Given the description of an element on the screen output the (x, y) to click on. 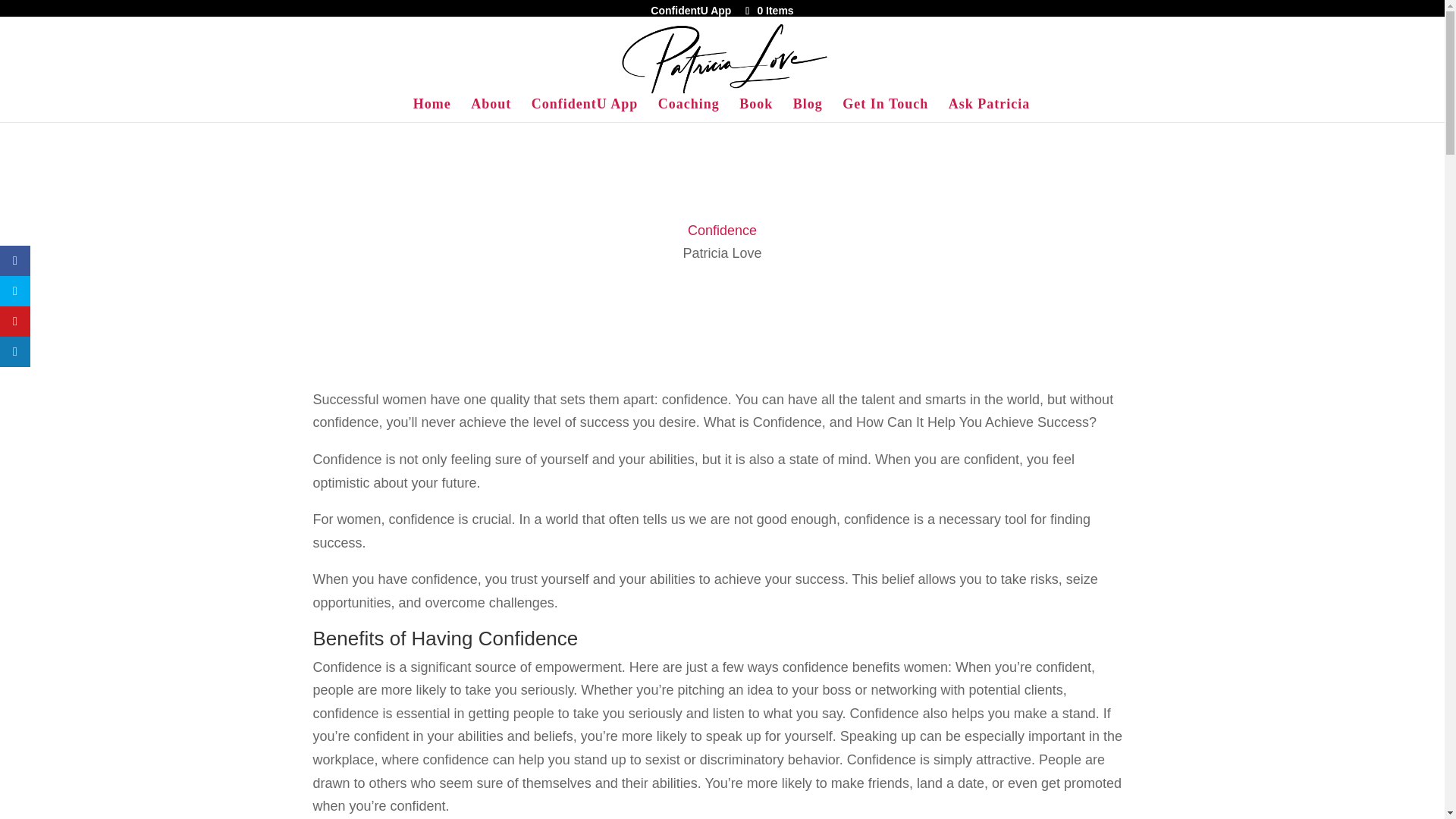
Book (756, 110)
0 Items (767, 10)
Blog (807, 110)
Ask Patricia (989, 110)
Get In Touch (885, 110)
ConfidentU App (585, 110)
Confidence (722, 230)
About (490, 110)
Coaching (688, 110)
Home (432, 110)
ConfidentU App (690, 9)
